Given the description of an element on the screen output the (x, y) to click on. 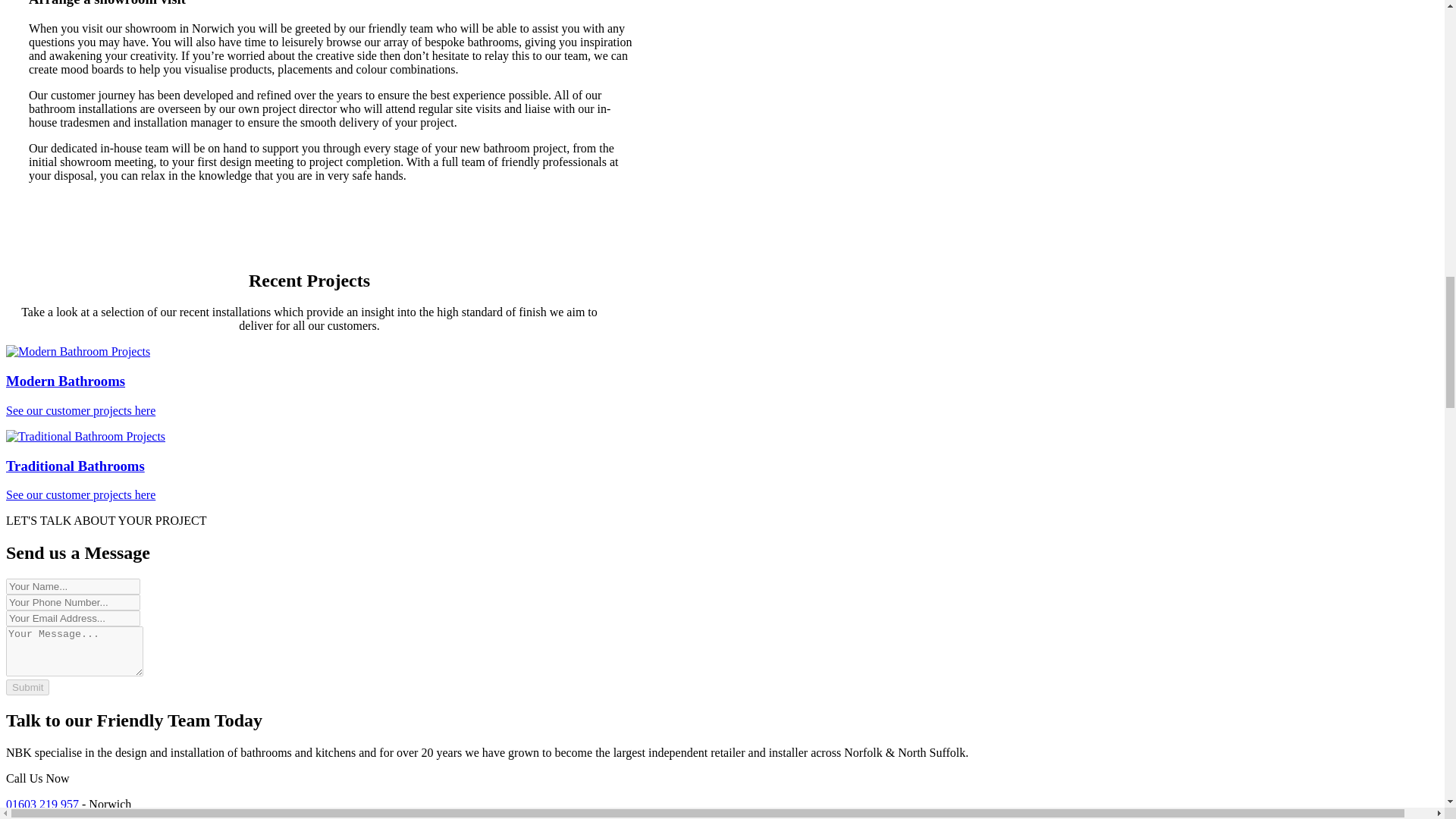
Traditional Bathroom Projects (721, 465)
Modern Bathroom Projects (721, 465)
Submit (721, 380)
Submit (27, 687)
01603 219 957 (27, 687)
